Given the description of an element on the screen output the (x, y) to click on. 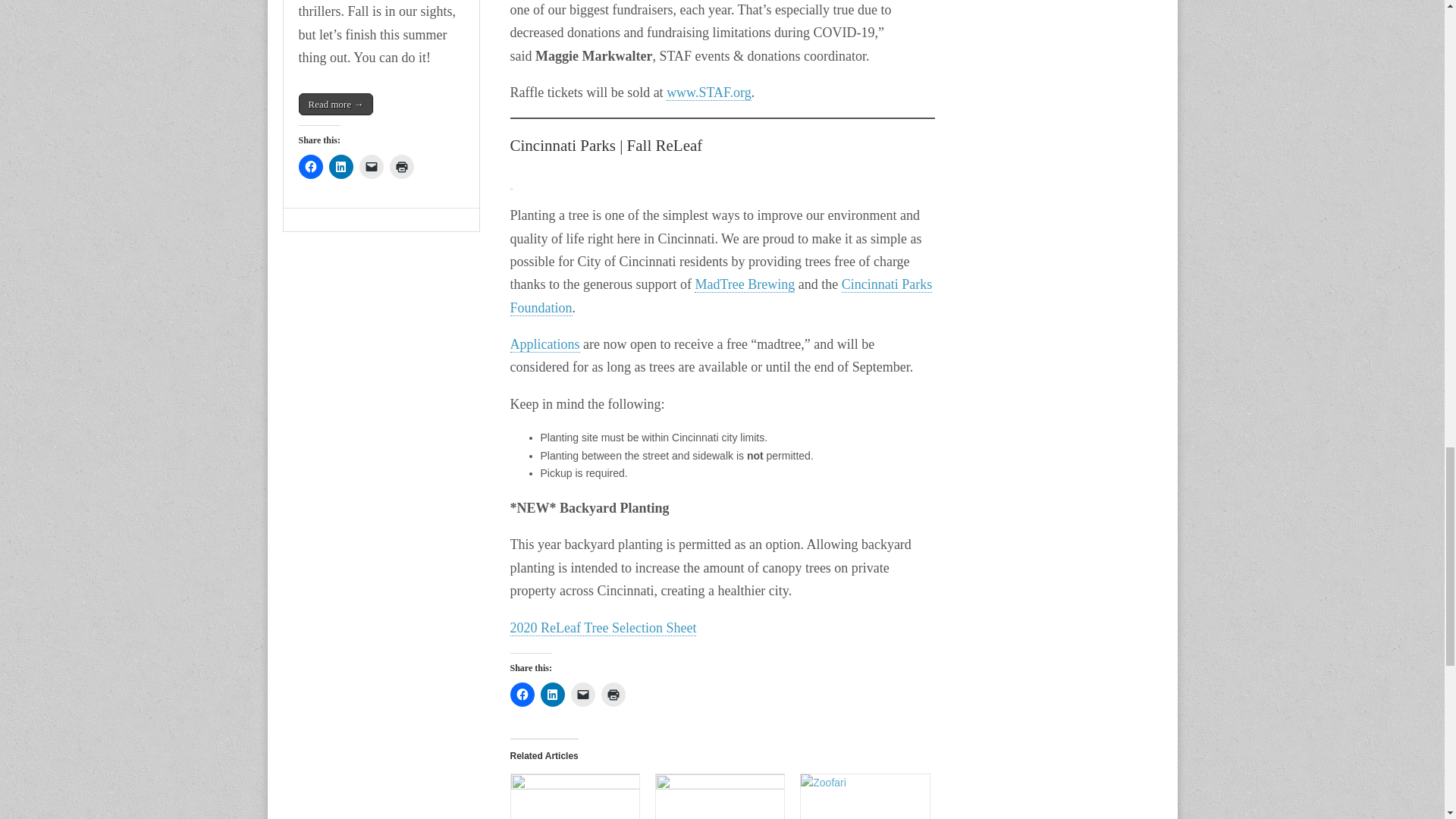
Zoo fundraiser promises a wild time (864, 796)
MadTree Brewing (744, 284)
www.STAF.org (708, 92)
Click to share on LinkedIn (552, 694)
Click to print (611, 694)
Cincinnati Parks Foundation (720, 295)
Click to share on Facebook (521, 694)
Click to email a link to a friend (582, 694)
